Given the description of an element on the screen output the (x, y) to click on. 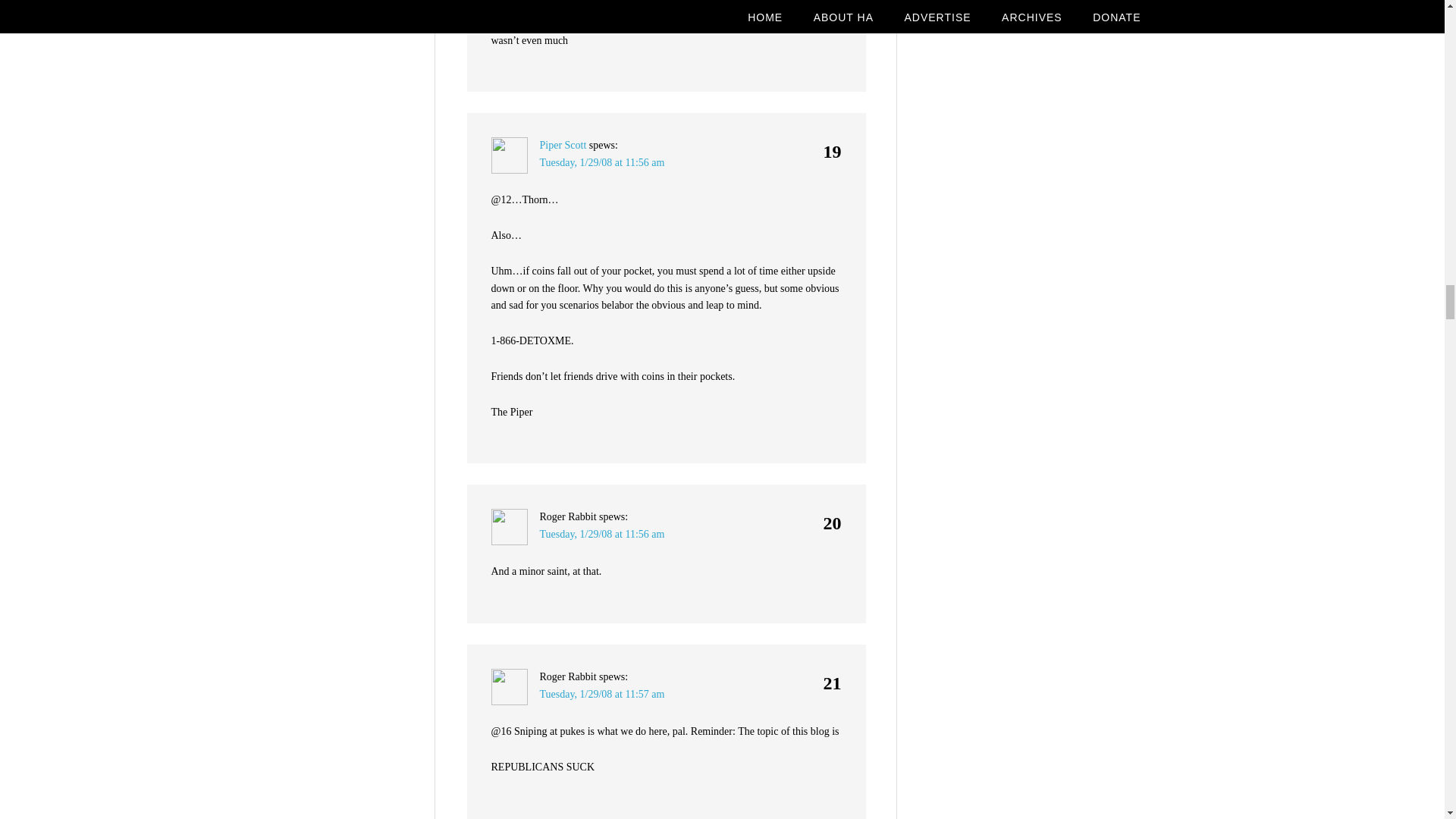
Piper Scott (563, 144)
